Given the description of an element on the screen output the (x, y) to click on. 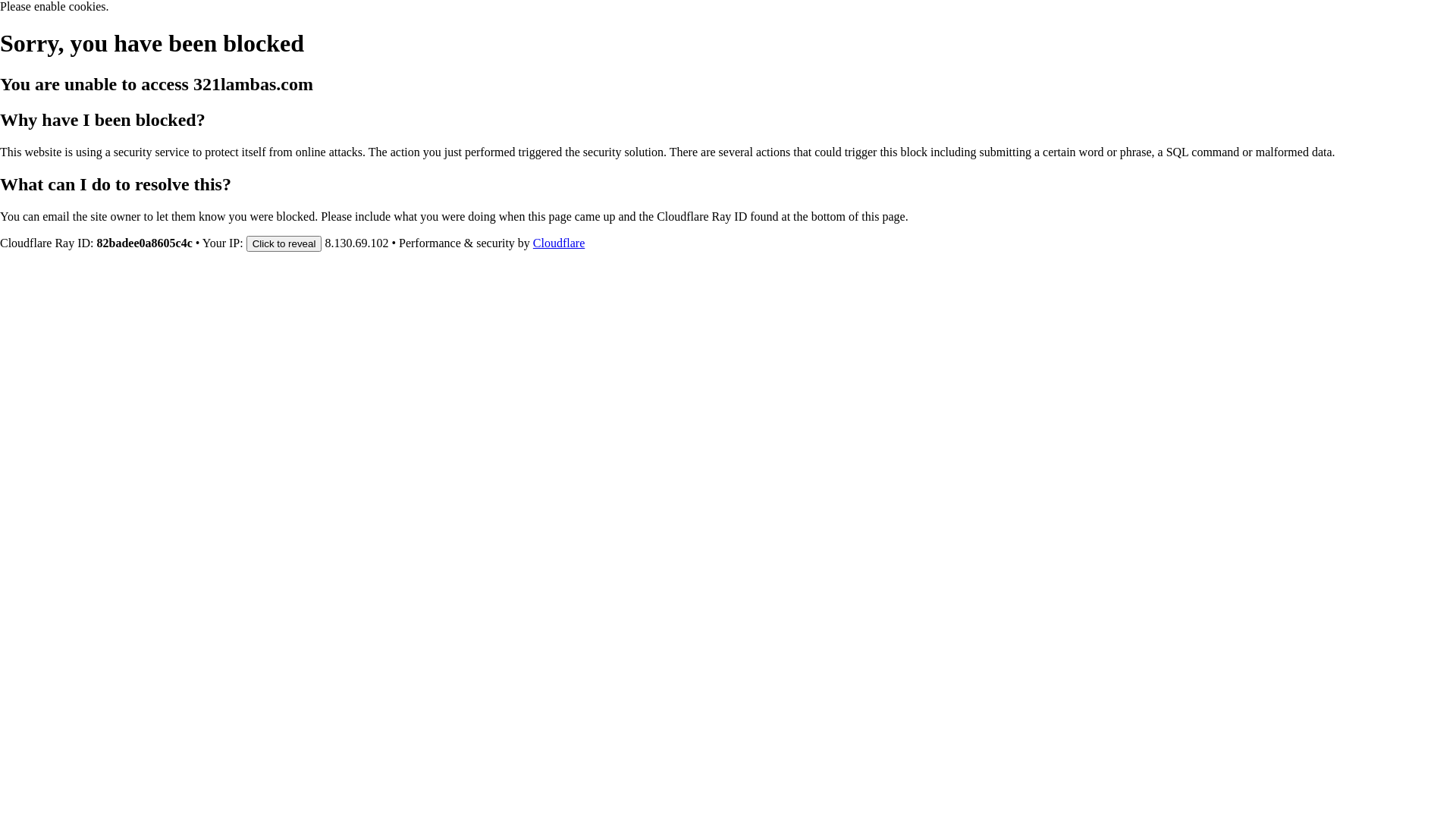
Cloudflare Element type: text (558, 242)
Click to reveal Element type: text (284, 243)
